Given the description of an element on the screen output the (x, y) to click on. 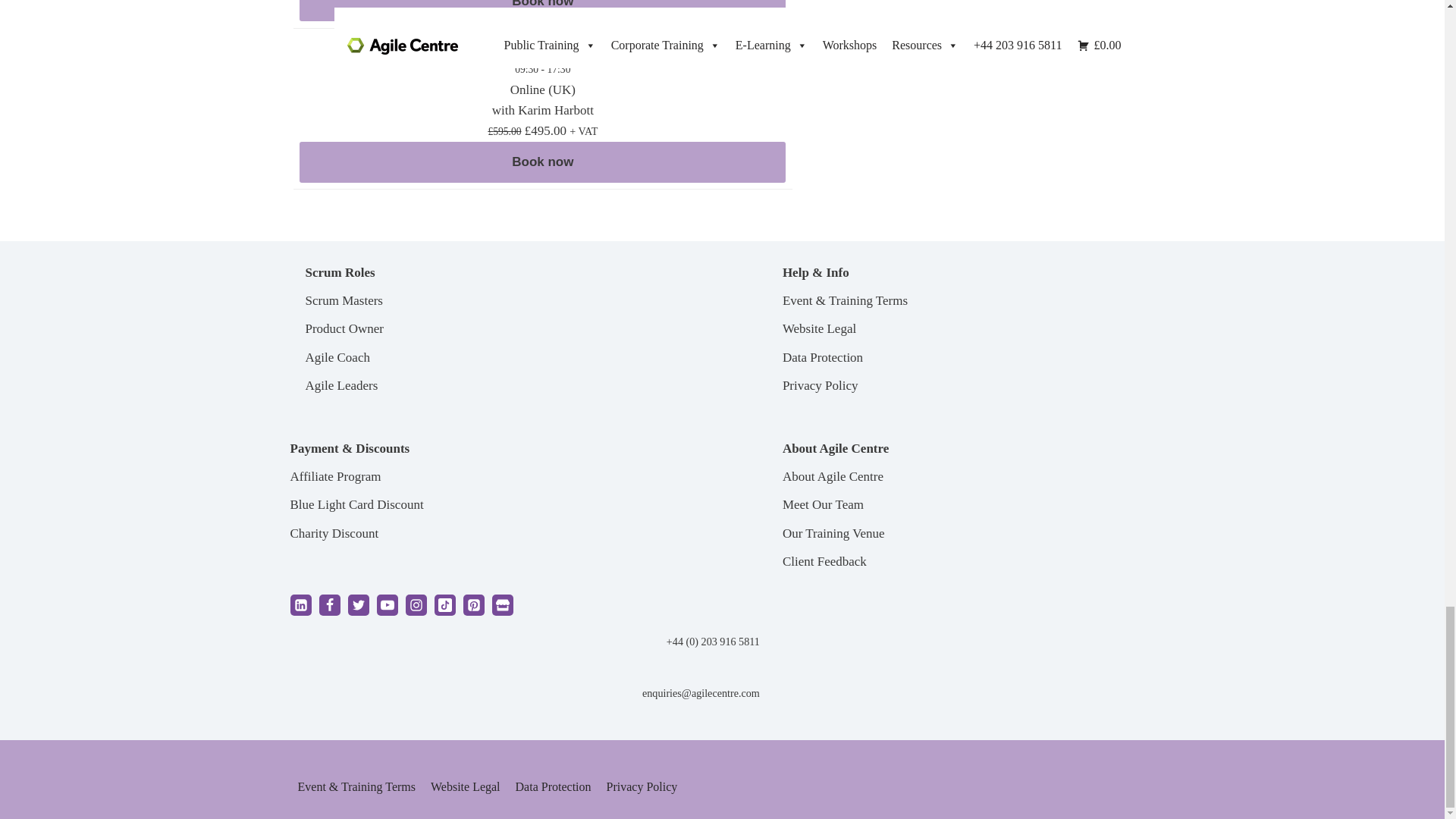
X (357, 604)
Facebook (328, 604)
Linked In (300, 604)
